Given the description of an element on the screen output the (x, y) to click on. 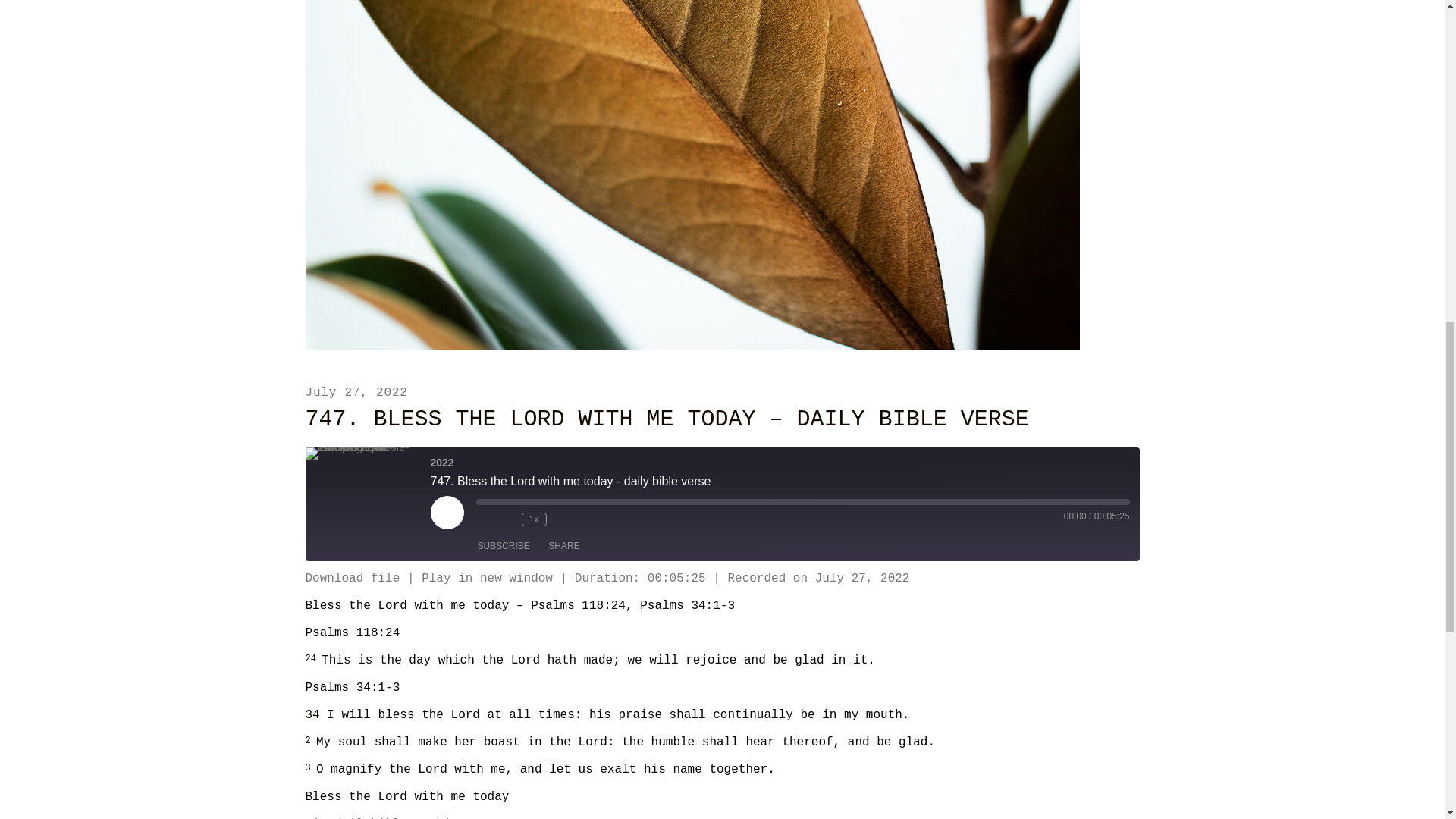
SHARE (563, 545)
SUBSCRIBE (503, 545)
Rewind 10 Seconds (506, 519)
Play (447, 512)
Fast Forward 30 seconds (561, 519)
Share (563, 545)
Fast Forward 30 seconds (561, 519)
Subscribe (503, 545)
